Given the description of an element on the screen output the (x, y) to click on. 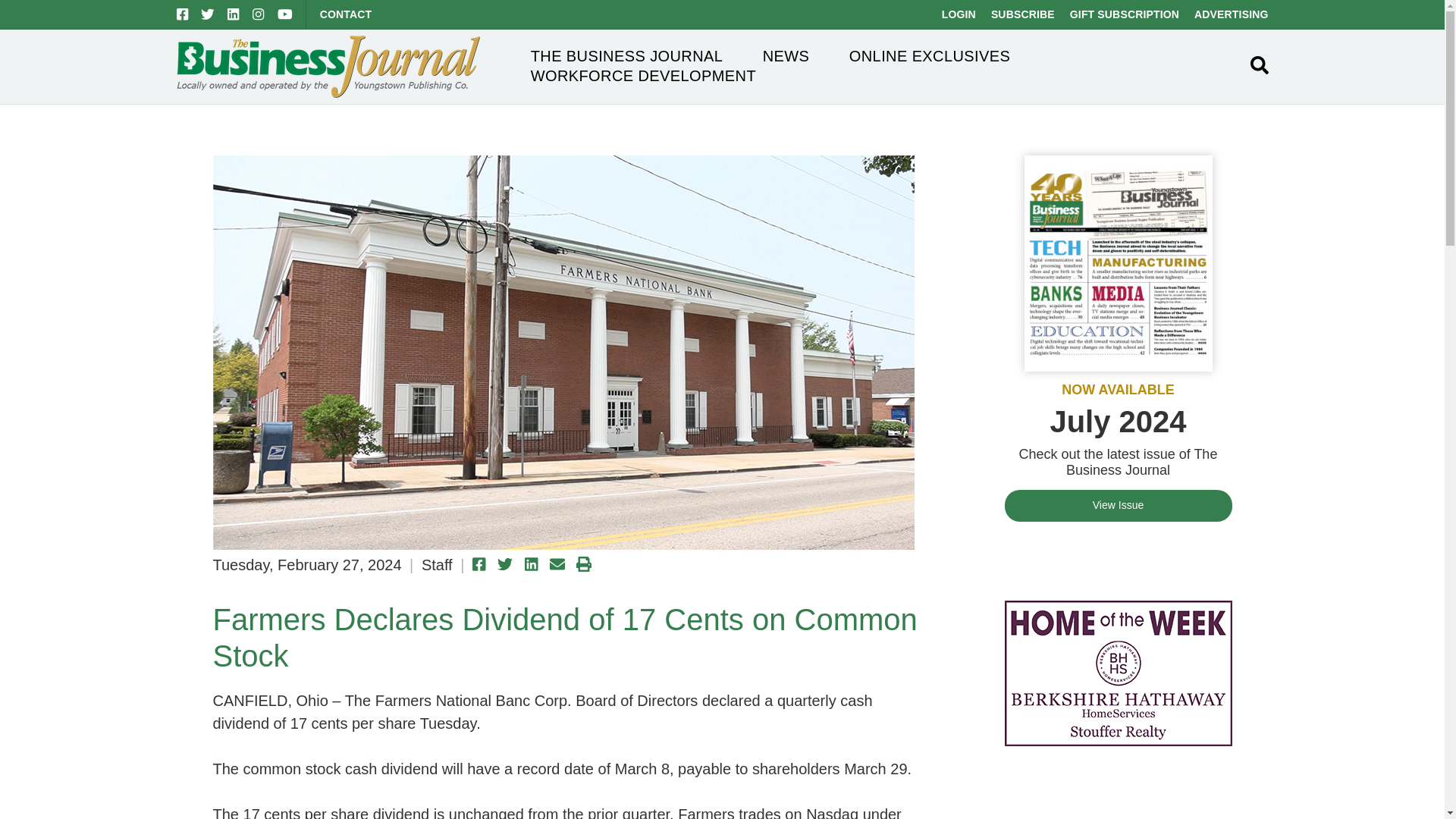
CONTACT (346, 14)
GIFT SUBSCRIPTION (1124, 14)
YOUTUBE (285, 14)
Share on print (583, 563)
Share on email (557, 563)
TWITTER (207, 13)
NEWS (785, 55)
ADVERTISING (1230, 14)
LOGIN (958, 14)
SUBSCRIBE (1022, 14)
Share on email (557, 563)
Share on Twitter (504, 563)
Share on Twitter (504, 563)
YOUTUBE (285, 13)
TWITTER (207, 14)
